Given the description of an element on the screen output the (x, y) to click on. 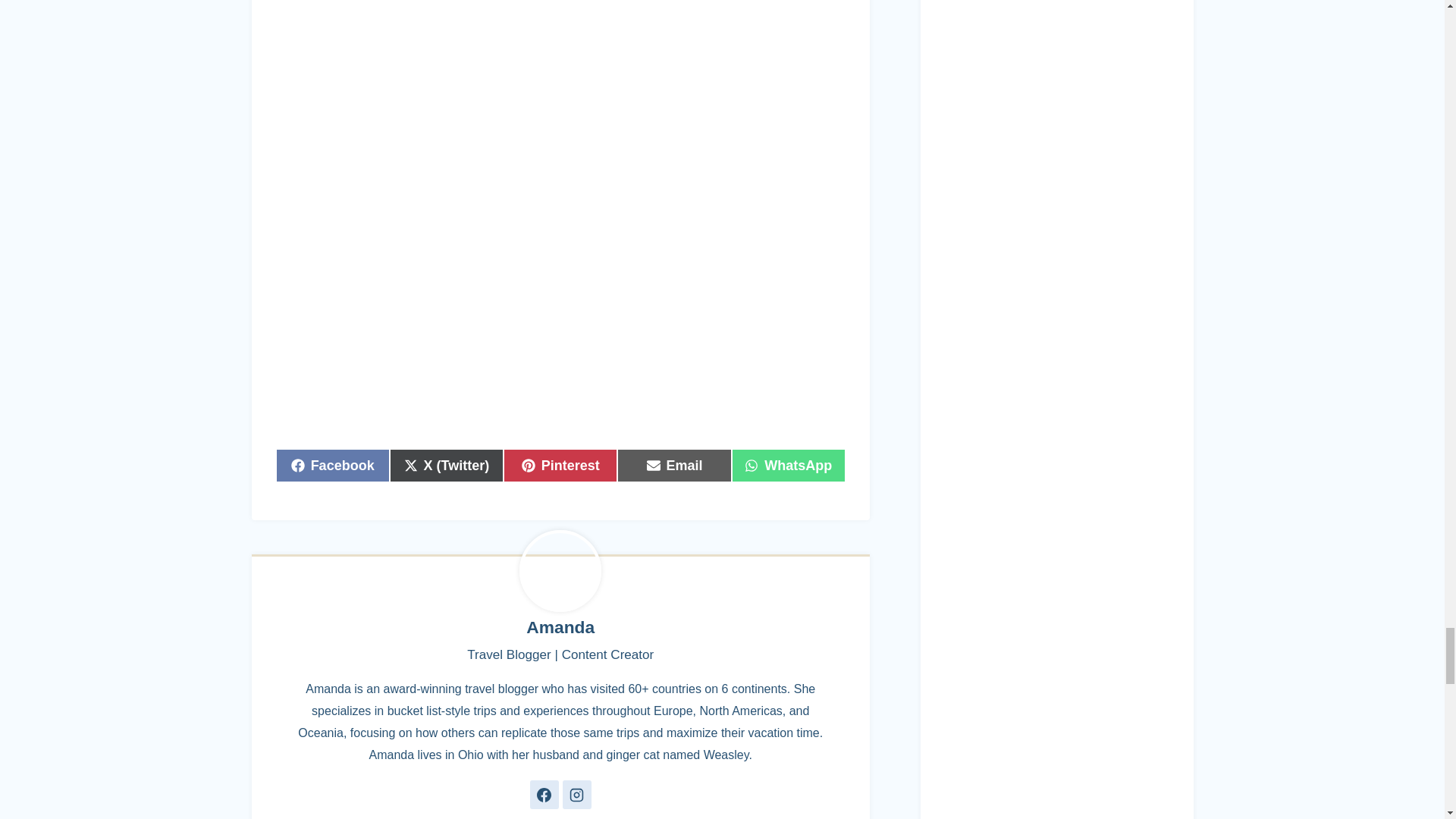
Follow Amanda on Instagram (576, 794)
Posts by Amanda (559, 627)
Follow Amanda on Facebook (544, 794)
